Given the description of an element on the screen output the (x, y) to click on. 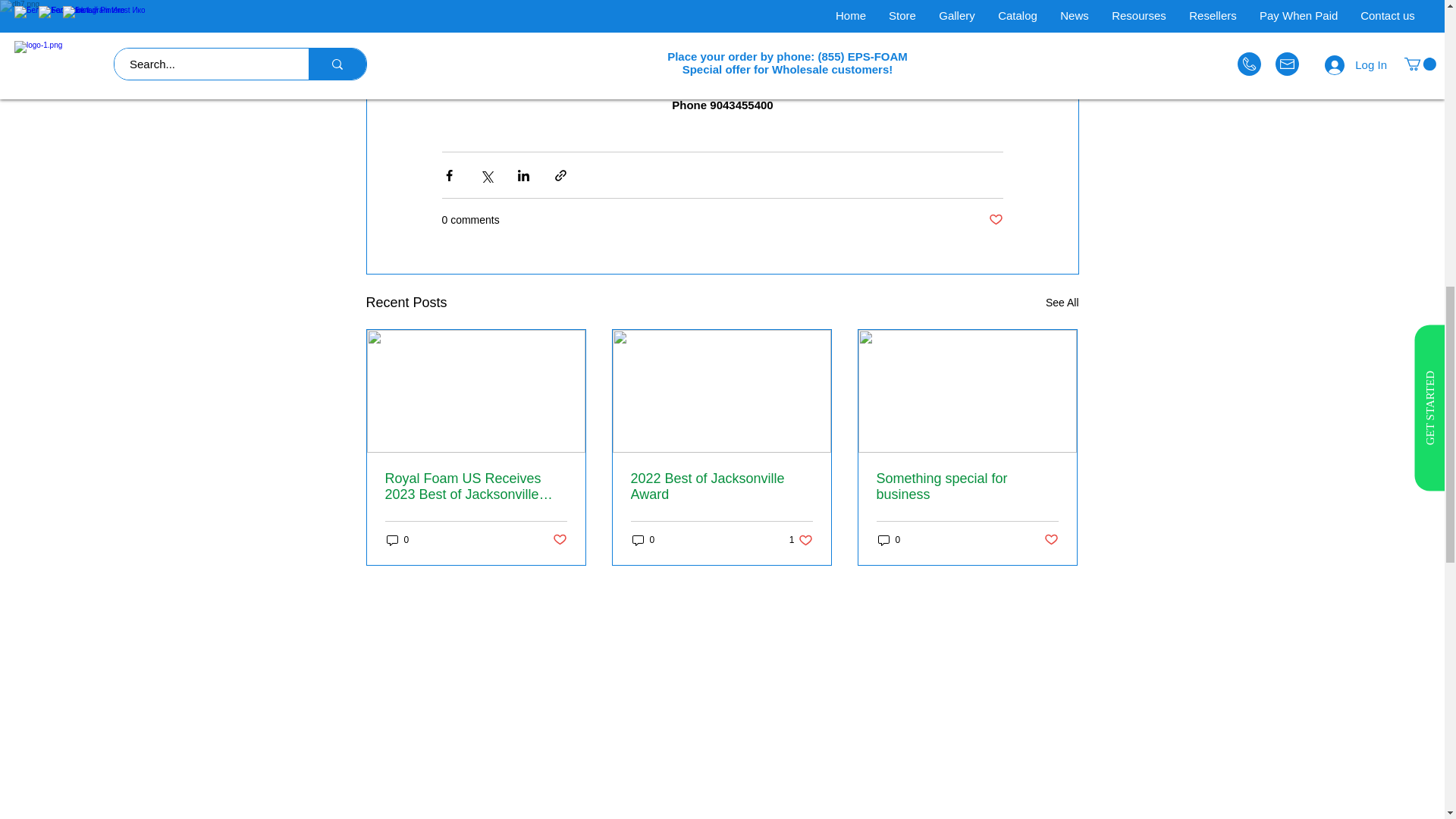
See All (1061, 302)
Post not marked as liked (995, 220)
Royal Foam US Receives 2023 Best of Jacksonville Award (476, 486)
0 (397, 540)
